Given the description of an element on the screen output the (x, y) to click on. 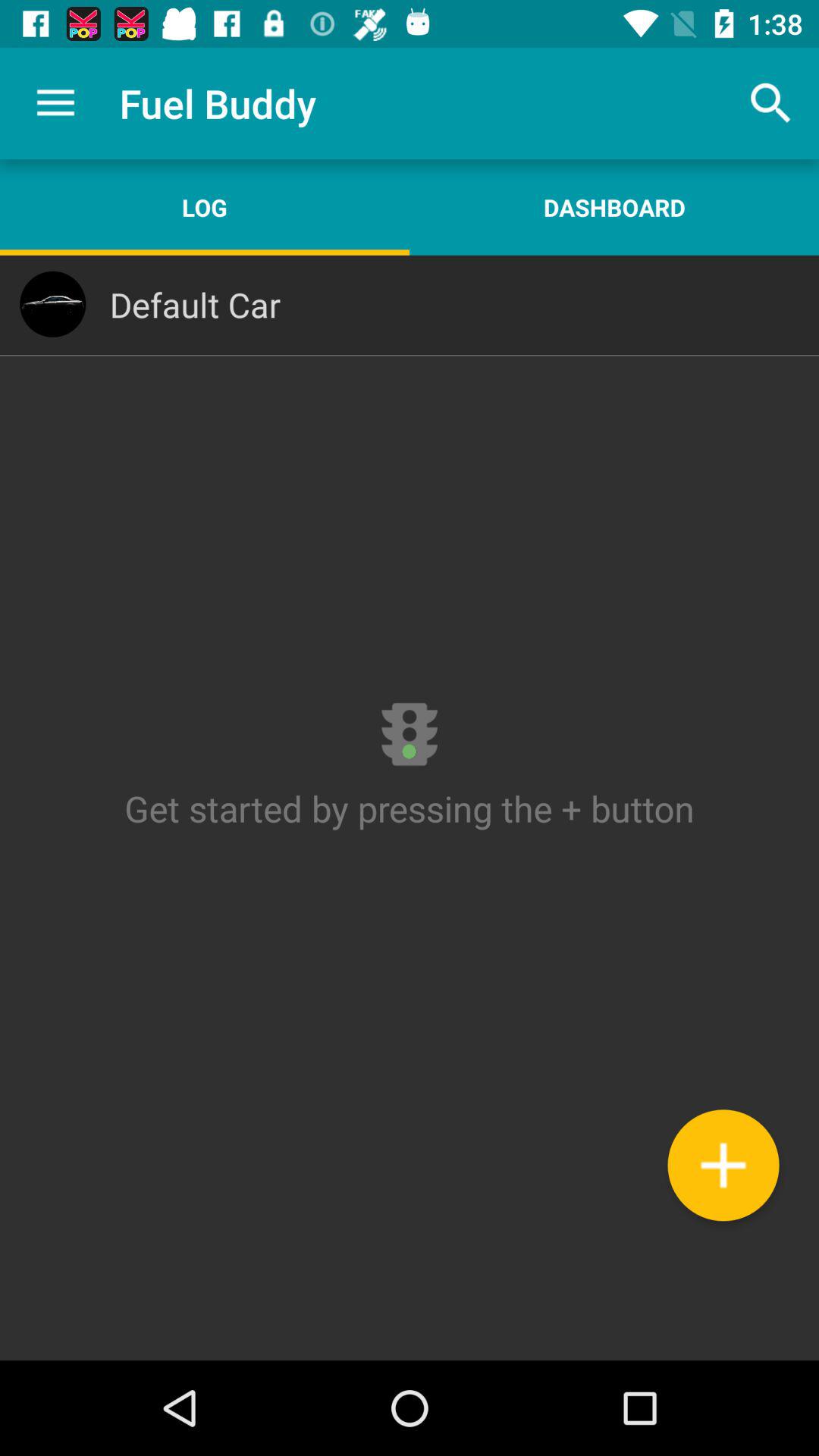
add car (723, 1165)
